Given the description of an element on the screen output the (x, y) to click on. 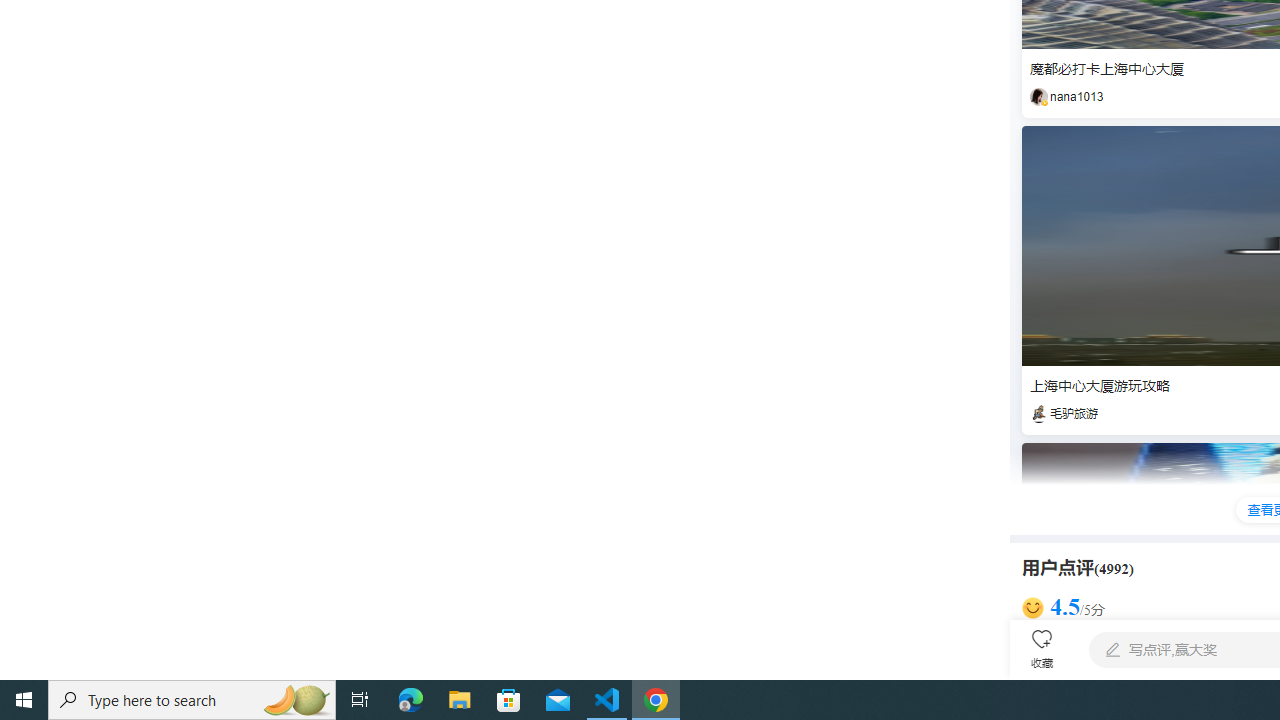
Visual Studio Code - 1 running window (607, 699)
Type here to search (191, 699)
Google Chrome - 1 running window (656, 699)
Task View (359, 699)
Microsoft Store (509, 699)
Search highlights icon opens search home window (295, 699)
File Explorer (460, 699)
Start (24, 699)
Microsoft Edge (411, 699)
